Given the description of an element on the screen output the (x, y) to click on. 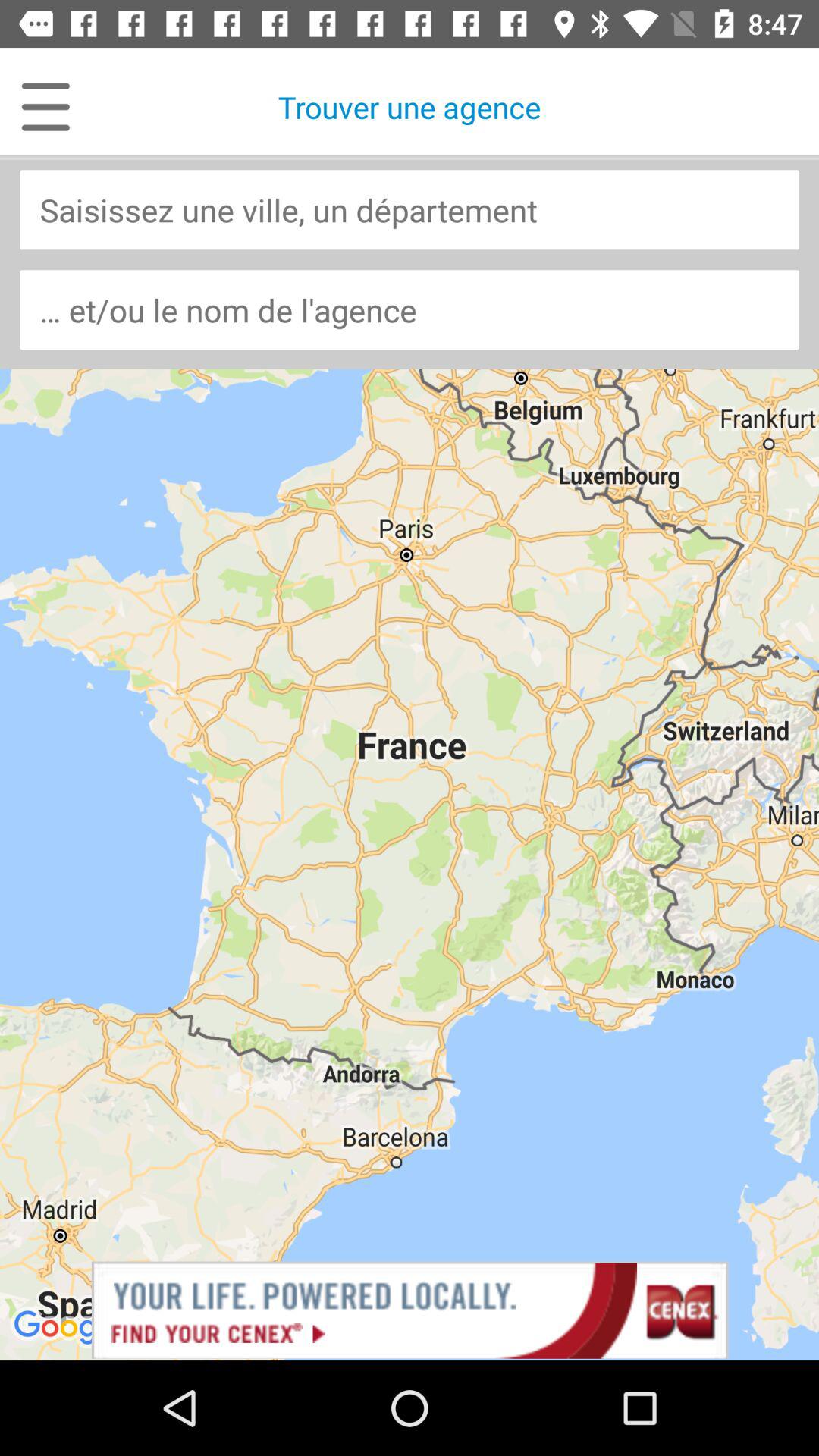
enter information (409, 209)
